Given the description of an element on the screen output the (x, y) to click on. 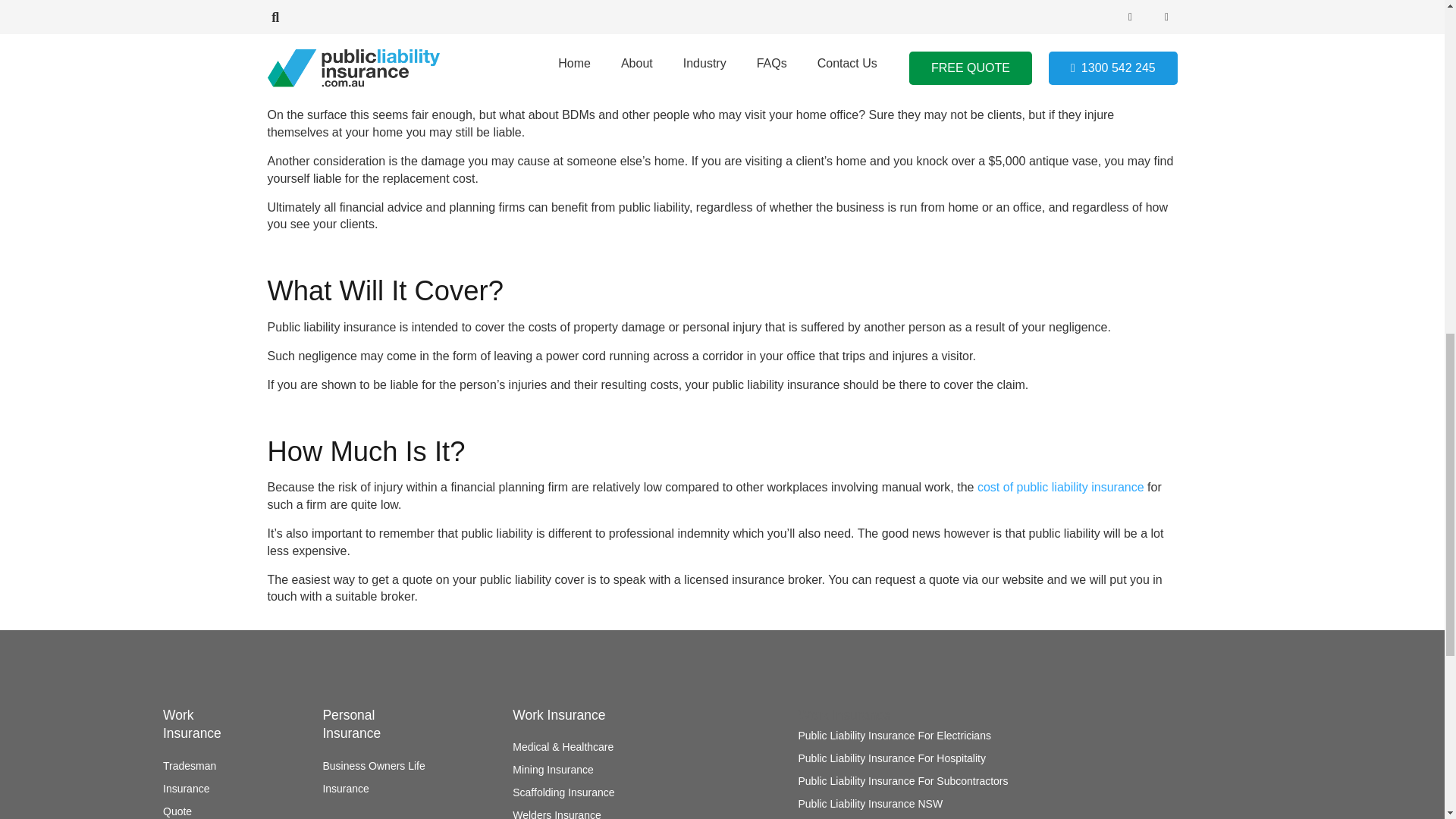
Public Liability Insurance For Subcontractors (902, 780)
Mining Insurance (553, 769)
Back to top (1406, 27)
Scaffolding Insurance (563, 792)
Tradesman Insurance Quote (189, 788)
cost of public liability insurance (1060, 486)
Public Liability Insurance For Hospitality (891, 758)
Public Liability Insurance For Electricians (893, 735)
Public Liability Insurance NSW (869, 803)
Welders Insurance (555, 814)
public liability cover (763, 85)
Business Owners Life Insurance (373, 777)
